Given the description of an element on the screen output the (x, y) to click on. 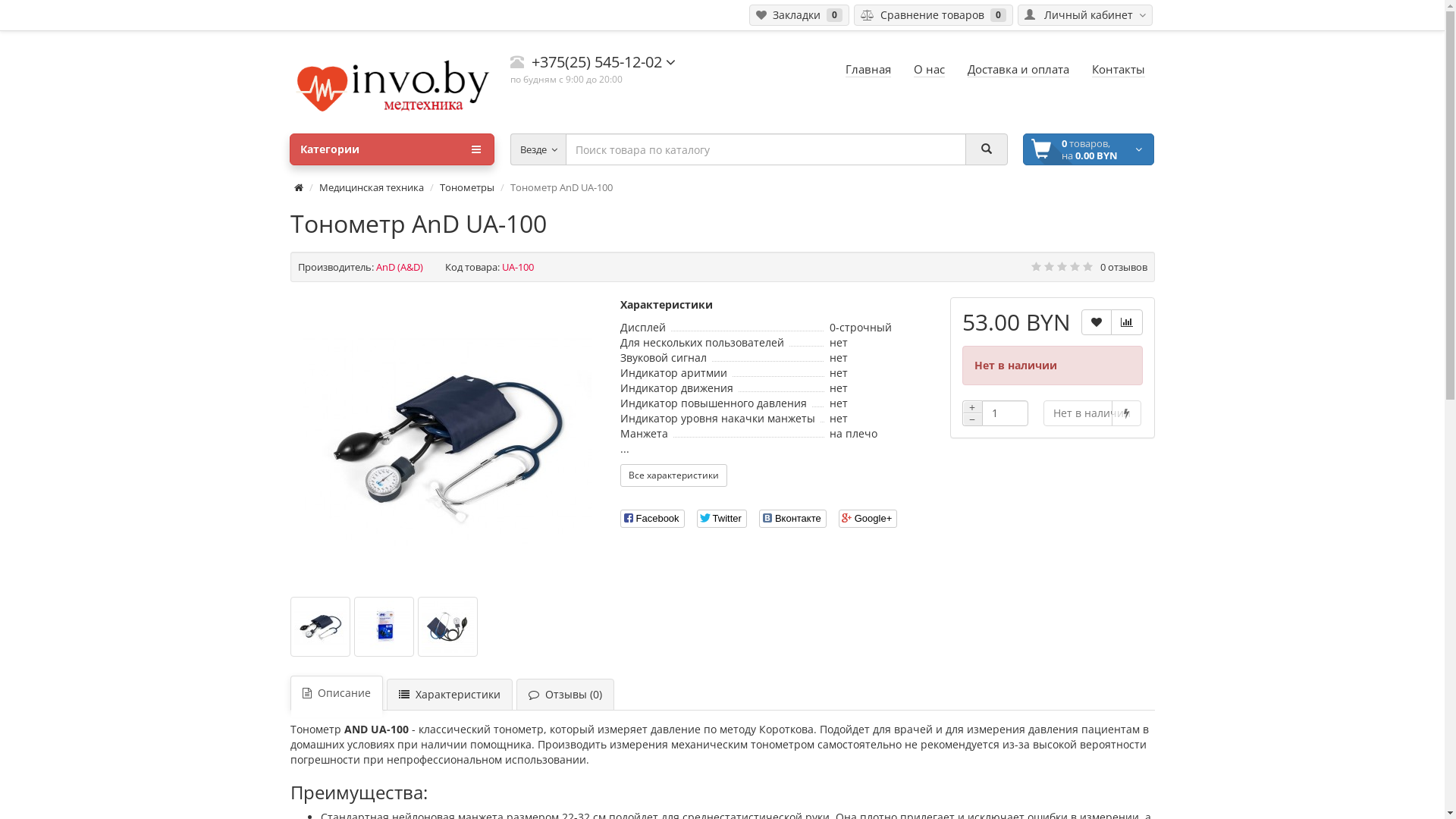
+ Element type: text (972, 407)
AnD (A&D) Element type: text (399, 266)
invo.by Element type: hover (391, 82)
